Given the description of an element on the screen output the (x, y) to click on. 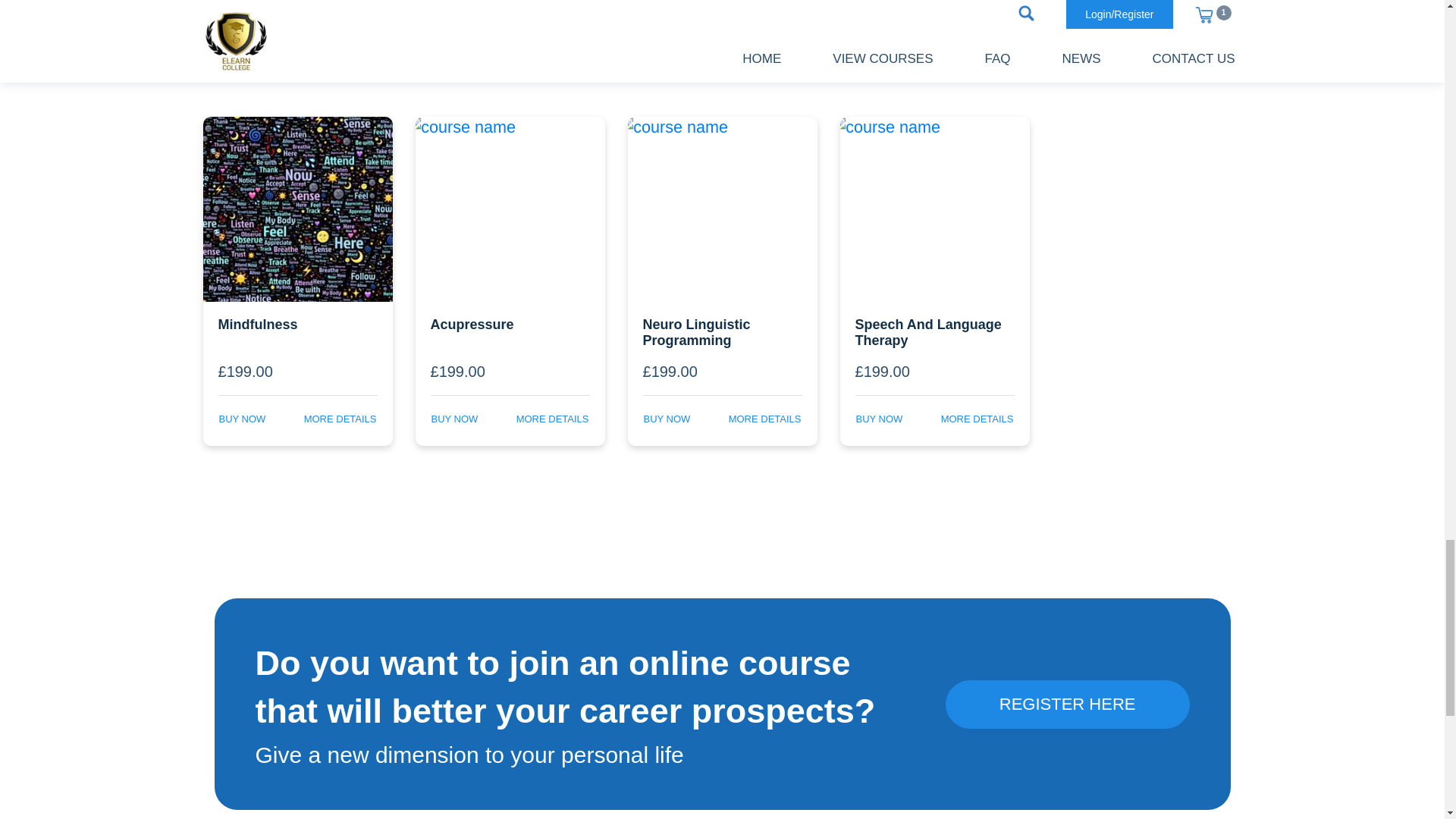
Mindfulness (298, 330)
Speech And Language Therapy (934, 330)
Neuro Linguistic Programming (721, 330)
Acupressure (509, 330)
